Given the description of an element on the screen output the (x, y) to click on. 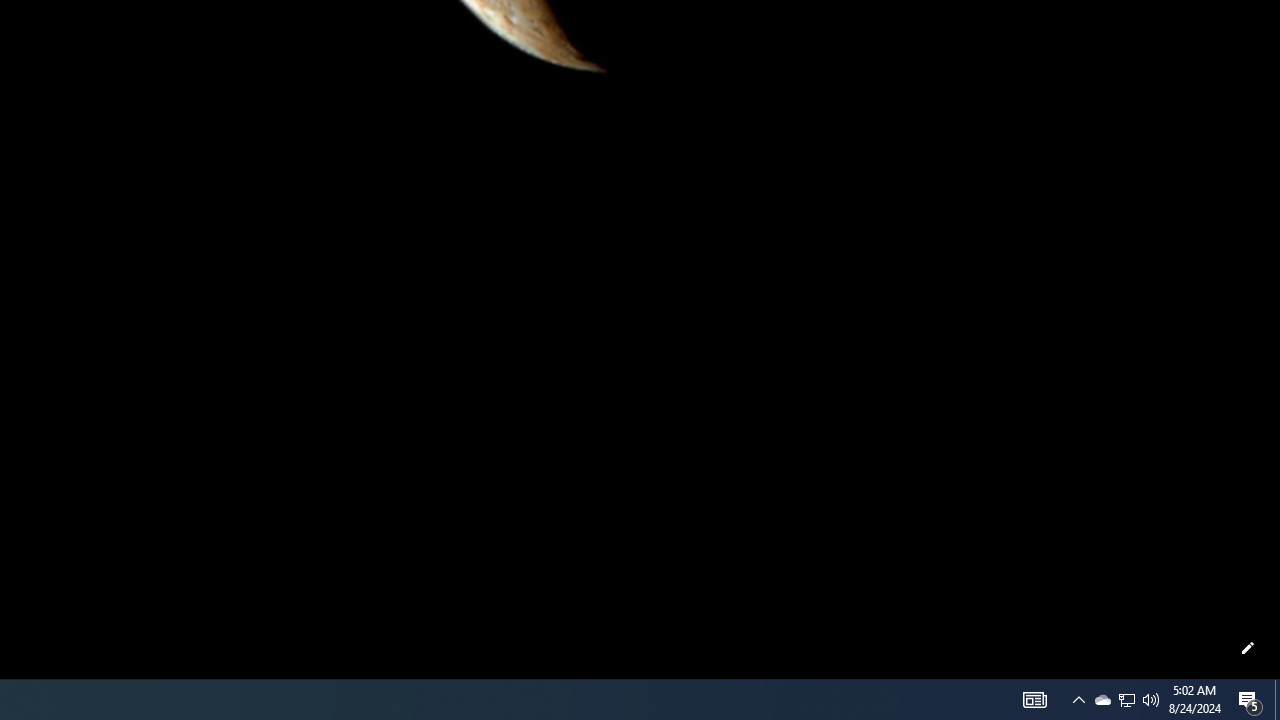
Customize this page (1247, 647)
